Given the description of an element on the screen output the (x, y) to click on. 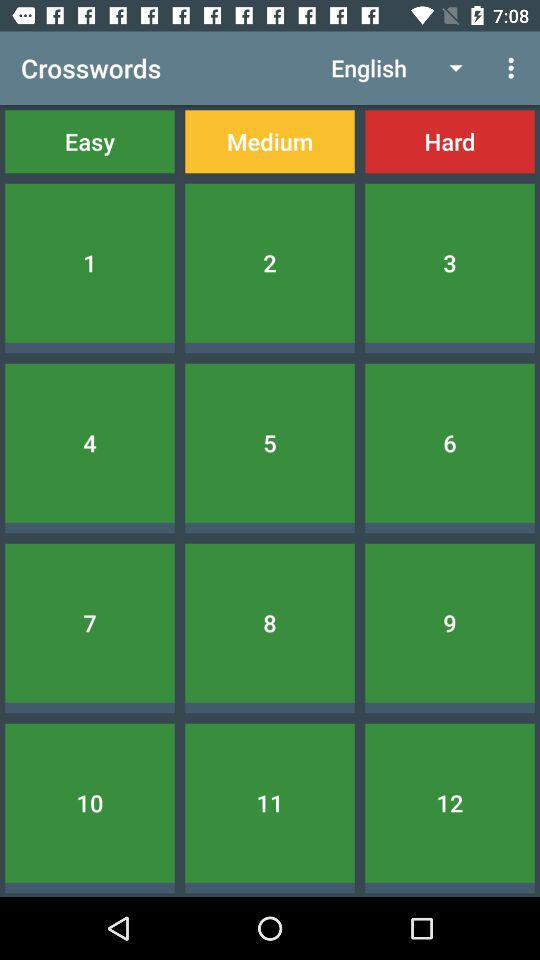
turn off icon below the medium item (269, 262)
